Given the description of an element on the screen output the (x, y) to click on. 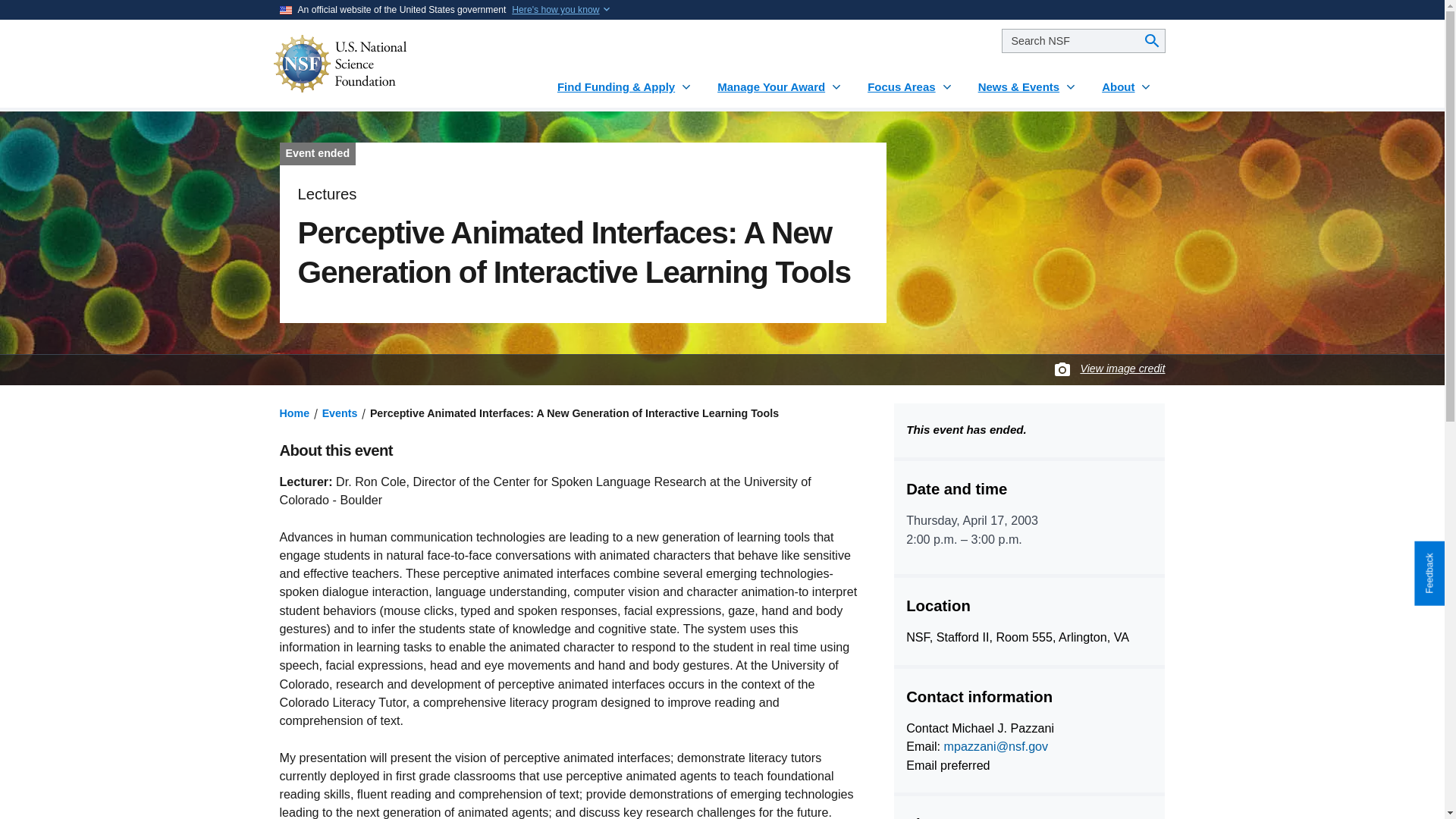
NSF - National Science Foundation - Home (385, 63)
Focus Areas (910, 80)
search (1082, 40)
View image credit (1122, 368)
About (1126, 80)
Here's how you know (555, 9)
Manage Your Award (780, 80)
Home (293, 413)
Events (339, 413)
